Given the description of an element on the screen output the (x, y) to click on. 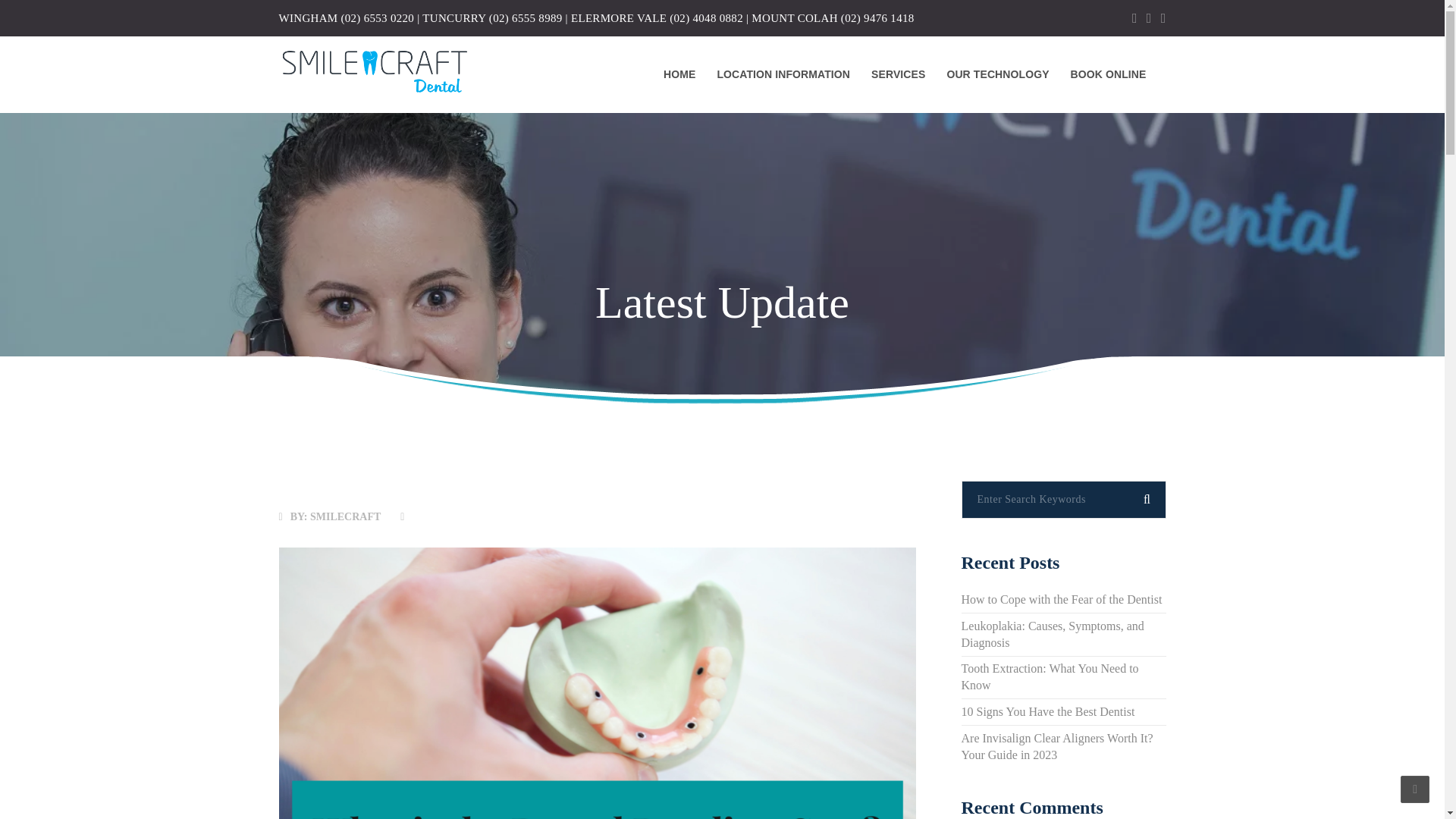
OUR TECHNOLOGY (997, 74)
Leukoplakia: Causes, Symptoms, and Diagnosis (1052, 634)
SERVICES (898, 74)
Tooth Extraction: What You Need to Know (1049, 676)
10 Signs You Have the Best Dentist (1047, 711)
Are Invisalign Clear Aligners Worth It? Your Guide in 2023 (1056, 746)
How to Cope with the Fear of the Dentist (1060, 599)
LOCATION INFORMATION (783, 74)
SMILECRAFT (345, 516)
BOOK ONLINE (1108, 74)
